Given the description of an element on the screen output the (x, y) to click on. 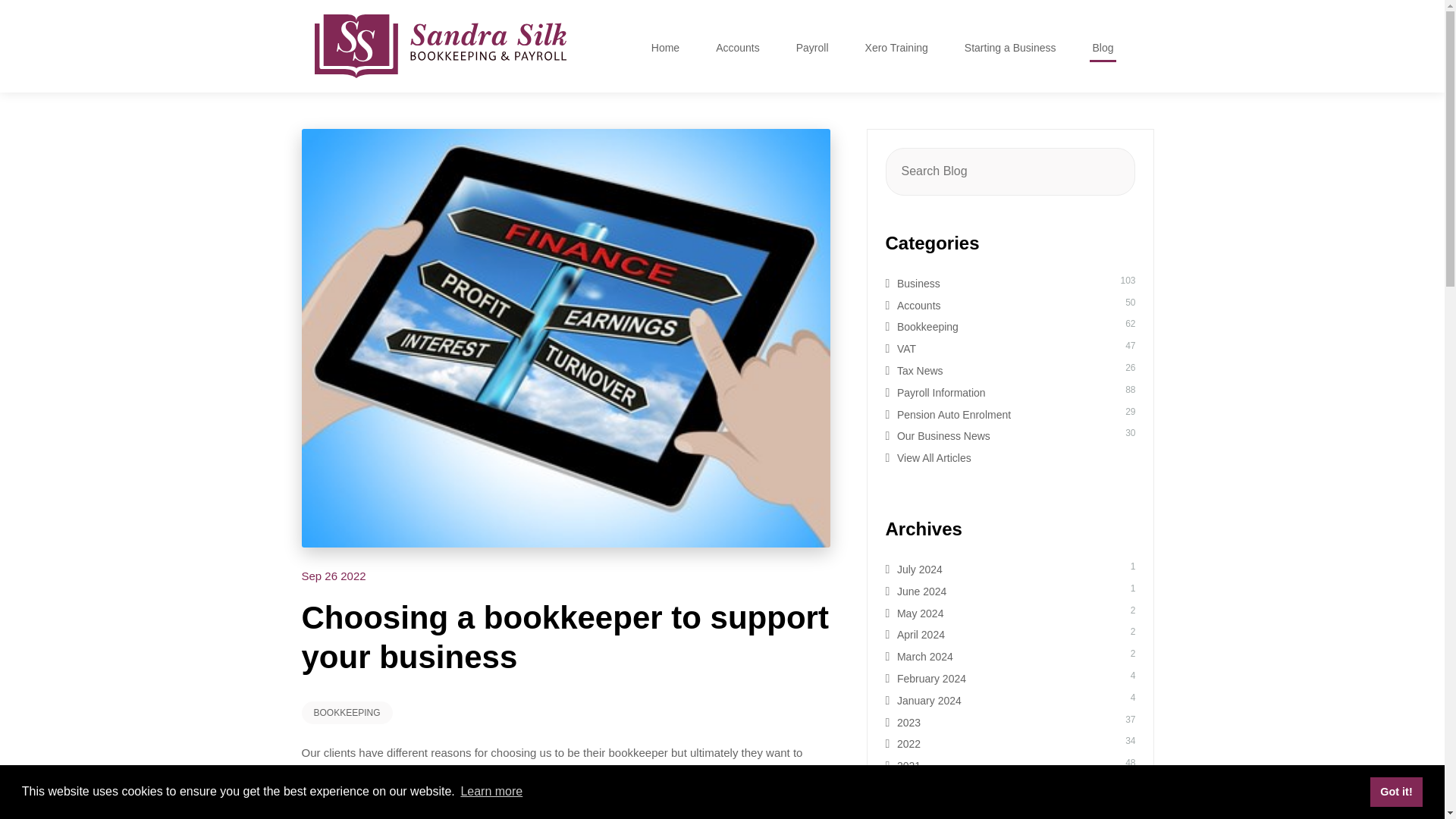
Blog (1102, 48)
Starting a Business (1010, 48)
Accounts (737, 48)
Sandra Silk Bookkeeping and Business Services Ltd (440, 45)
Xero Training (896, 48)
view other articles published in this month (333, 575)
Payroll (812, 48)
Home (665, 48)
view other articles in this category (347, 712)
Got it! (1396, 791)
Learn more (491, 791)
